Given the description of an element on the screen output the (x, y) to click on. 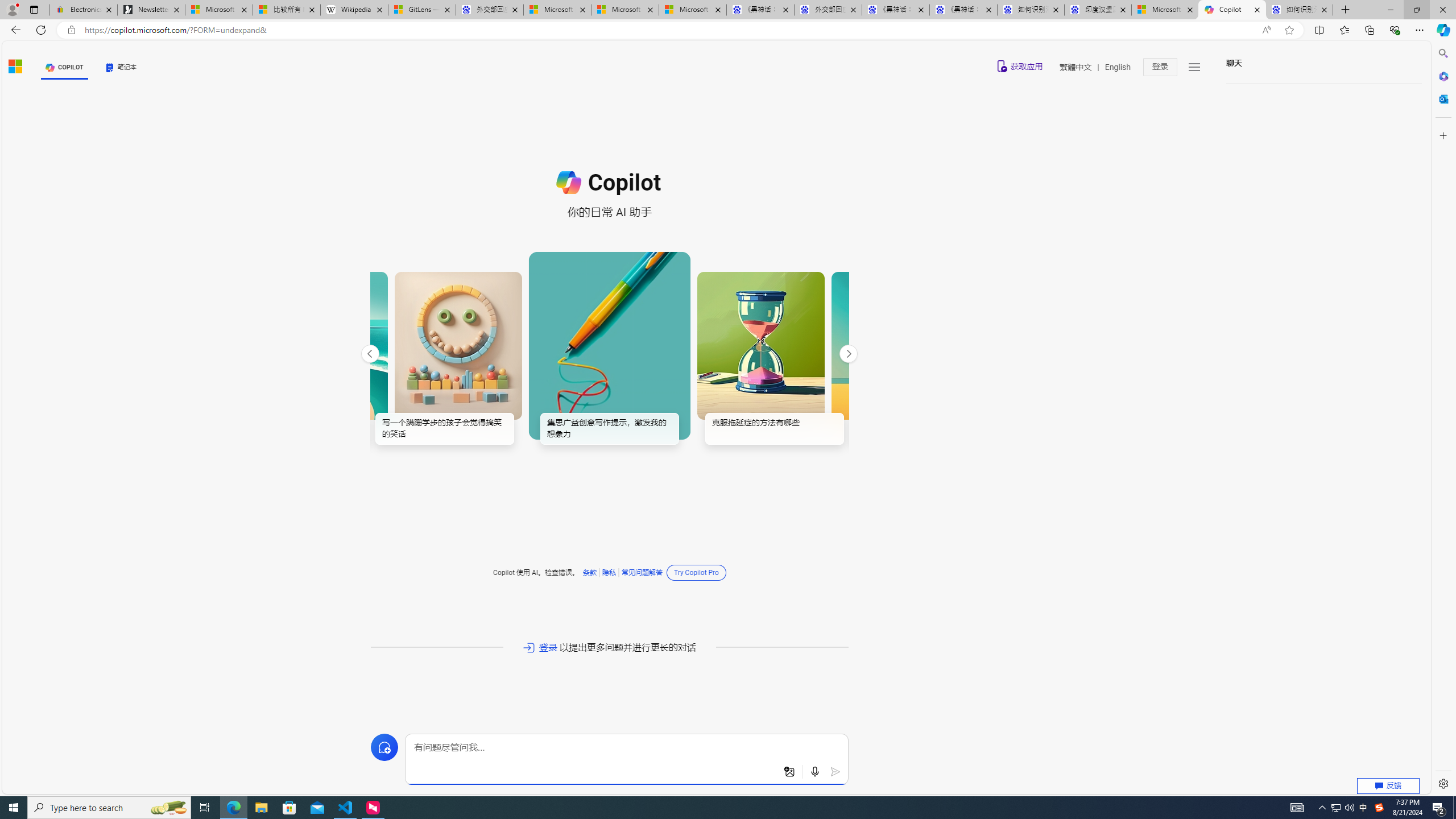
English (1118, 67)
